Given the description of an element on the screen output the (x, y) to click on. 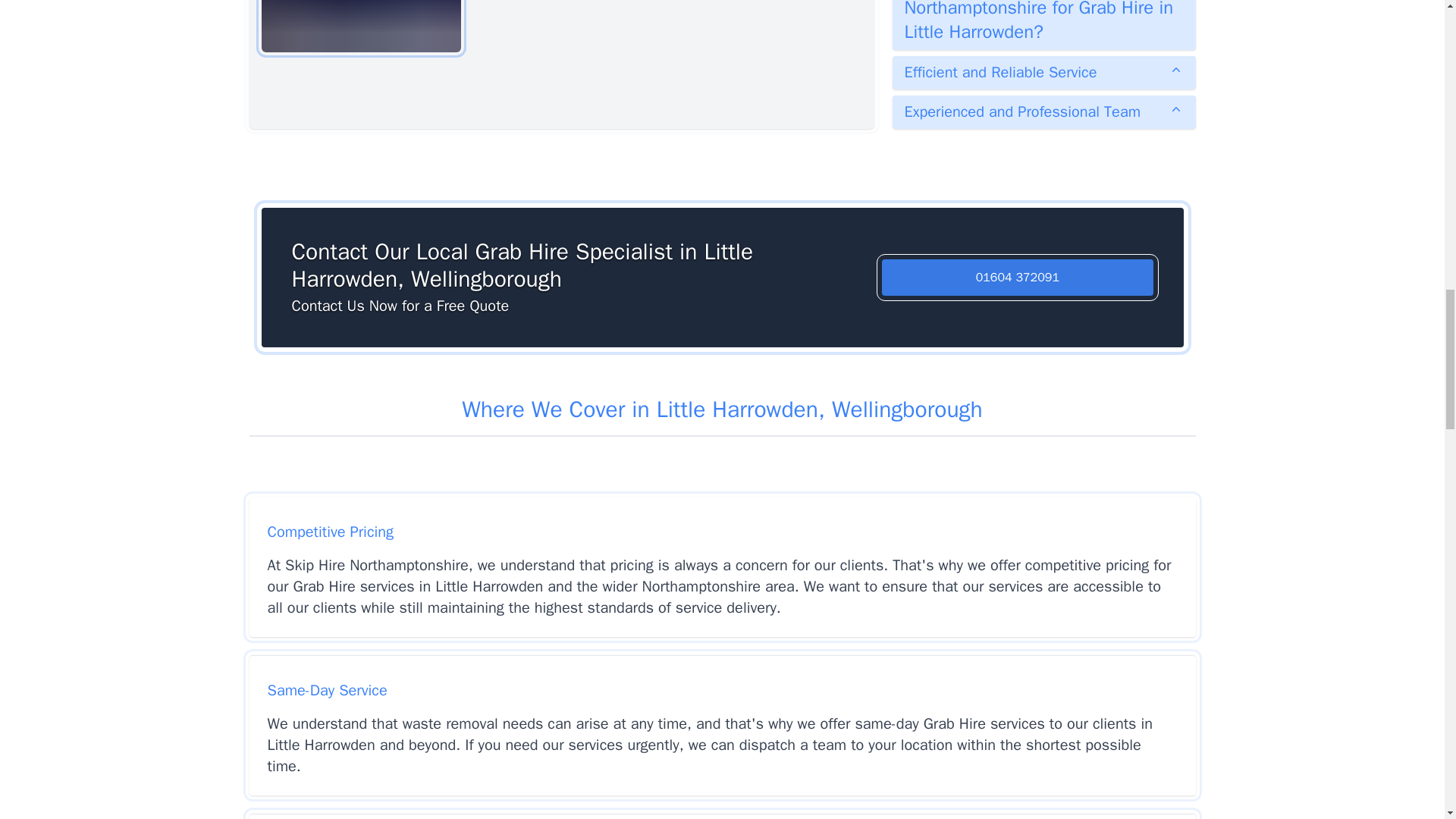
01604 372091 (1017, 277)
Experienced and Professional Team (1043, 111)
Efficient and Reliable Service (1043, 72)
